Given the description of an element on the screen output the (x, y) to click on. 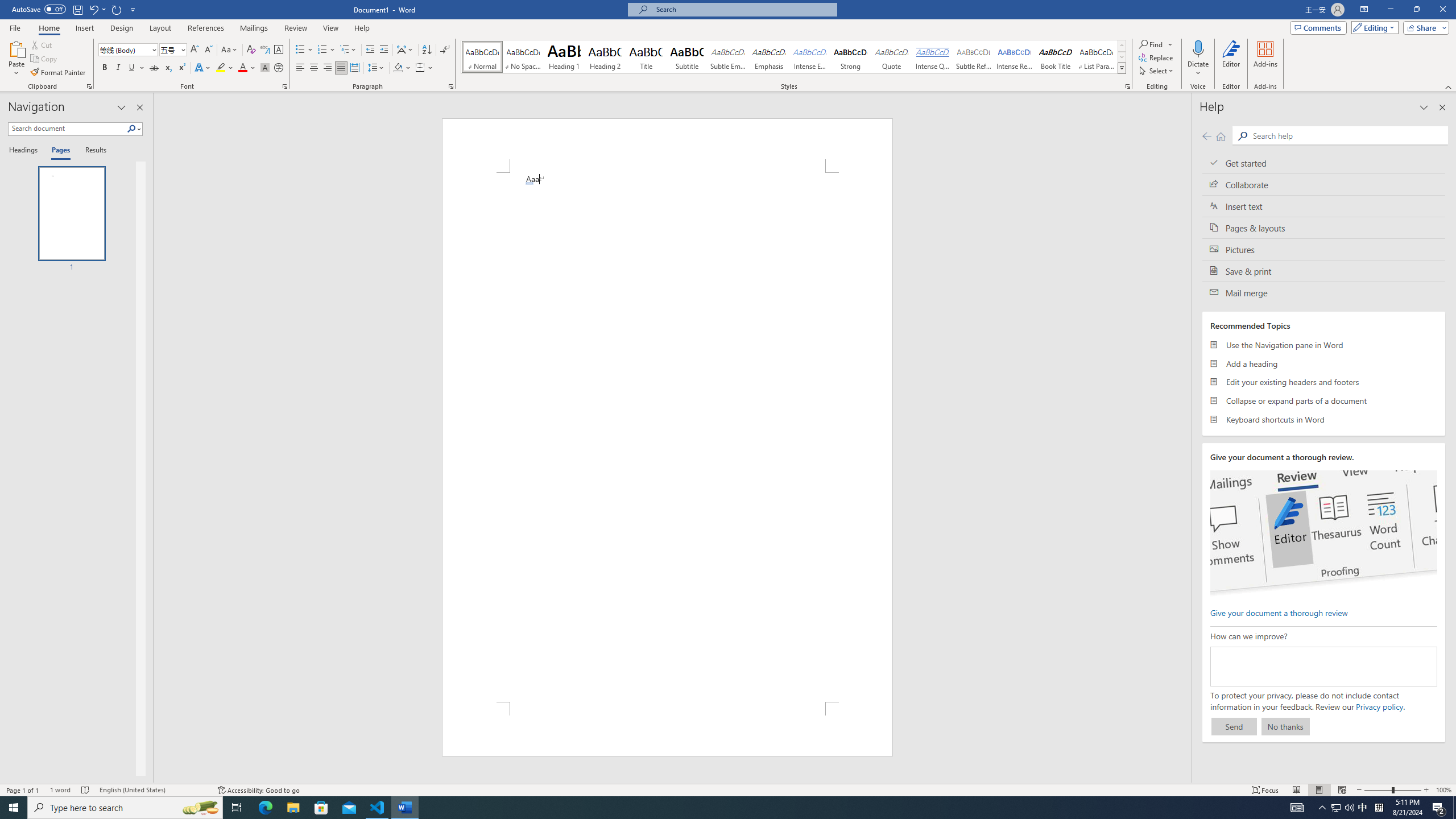
Format Painter (58, 72)
Styles (1121, 67)
Subtitle (686, 56)
Open (182, 49)
Intense Emphasis (809, 56)
Page 1 content (667, 436)
Results (91, 150)
Clear Formatting (250, 49)
Zoom (1392, 790)
Font Size (169, 49)
Pages & layouts (1323, 228)
Multilevel List (347, 49)
Subscript (167, 67)
Subtle Emphasis (727, 56)
References (205, 28)
